Given the description of an element on the screen output the (x, y) to click on. 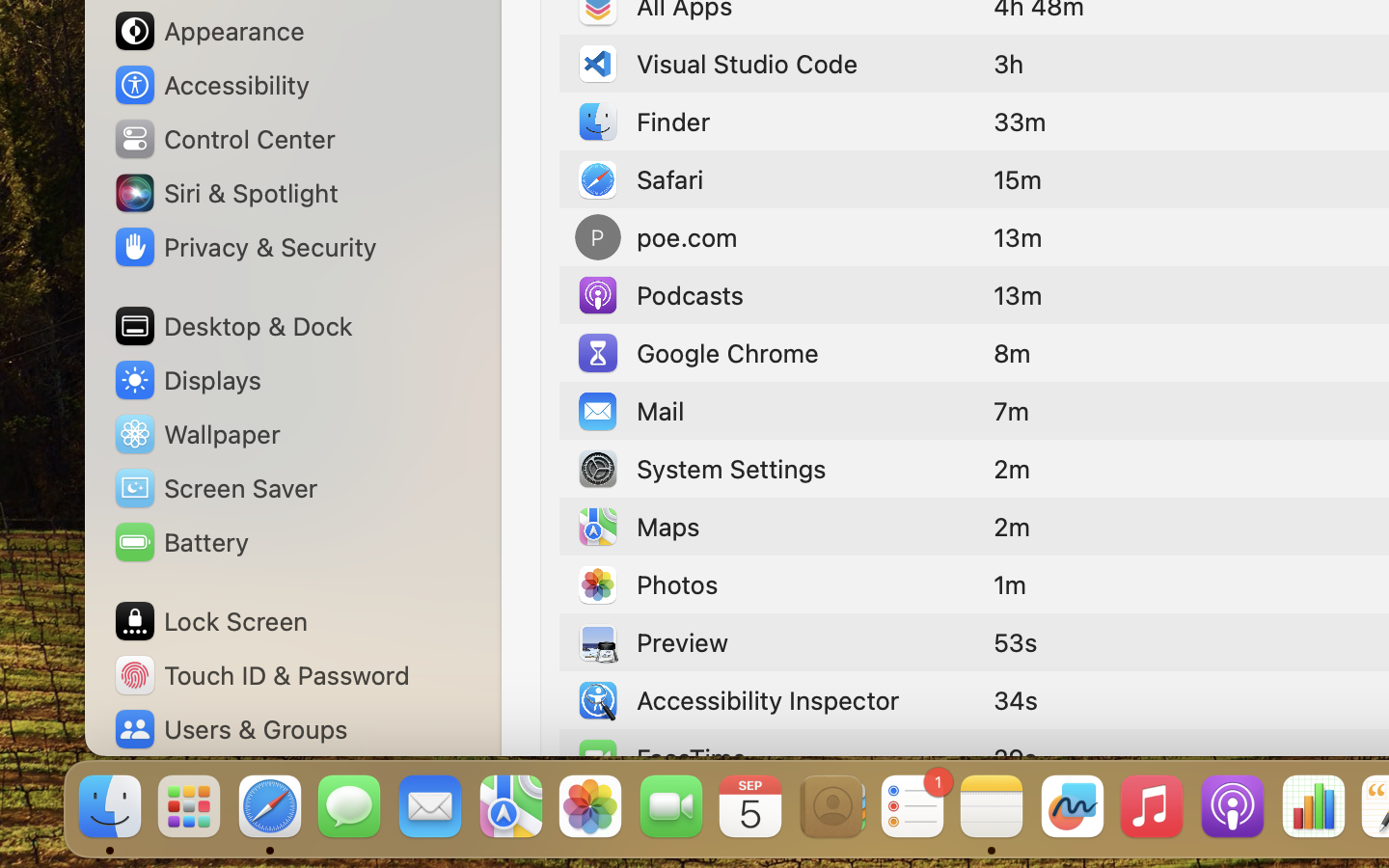
Touch ID & Password Element type: AXStaticText (260, 674)
Mail Element type: AXStaticText (629, 410)
